Given the description of an element on the screen output the (x, y) to click on. 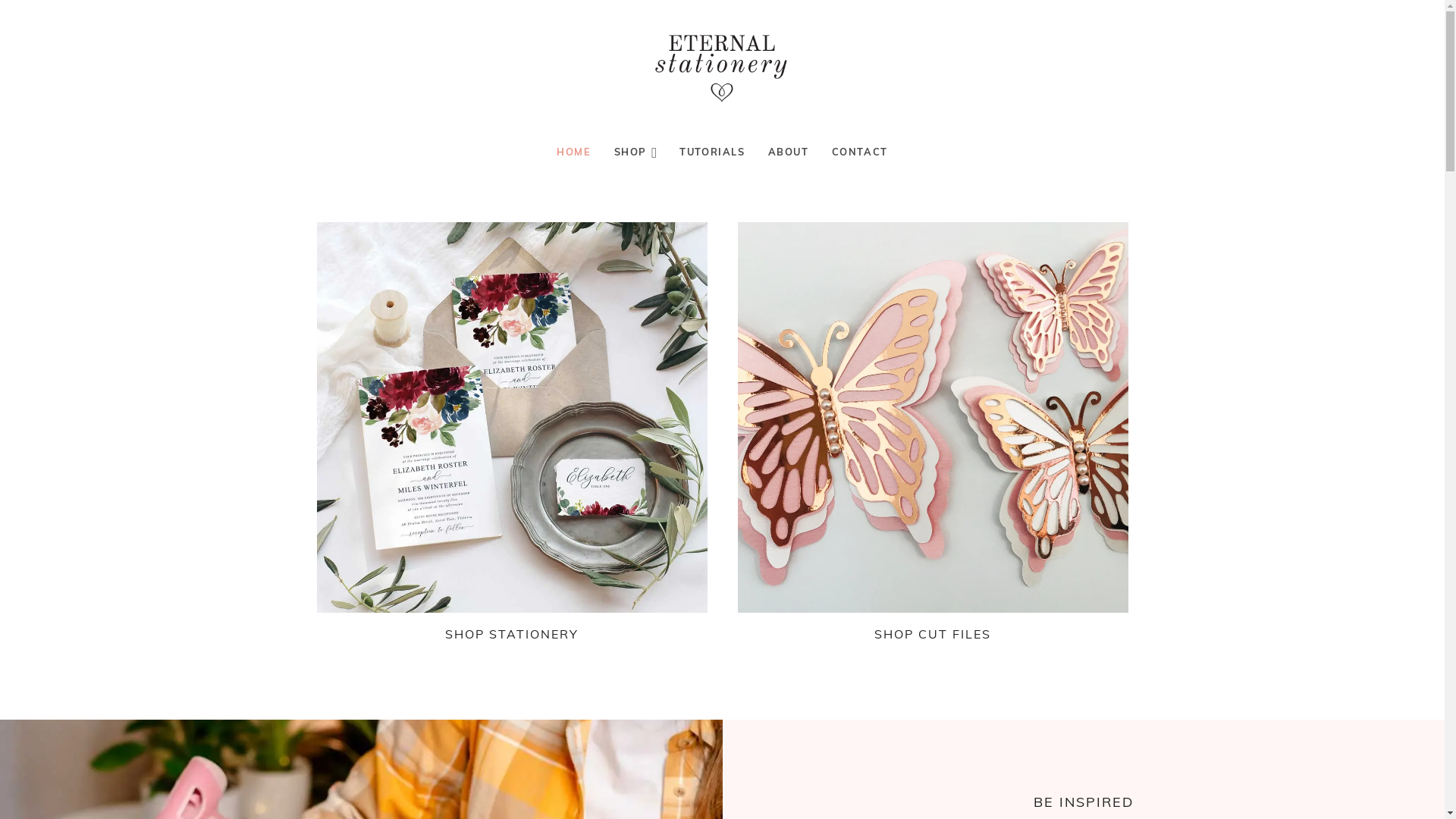
SHOP Element type: text (635, 151)
CONTACT Element type: text (859, 151)
SHOP STATIONERY Element type: text (511, 633)
ABOUT Element type: text (788, 151)
HOME Element type: text (573, 151)
TUTORIALS Element type: text (712, 151)
SHOP CUT FILES Element type: text (932, 633)
